Given the description of an element on the screen output the (x, y) to click on. 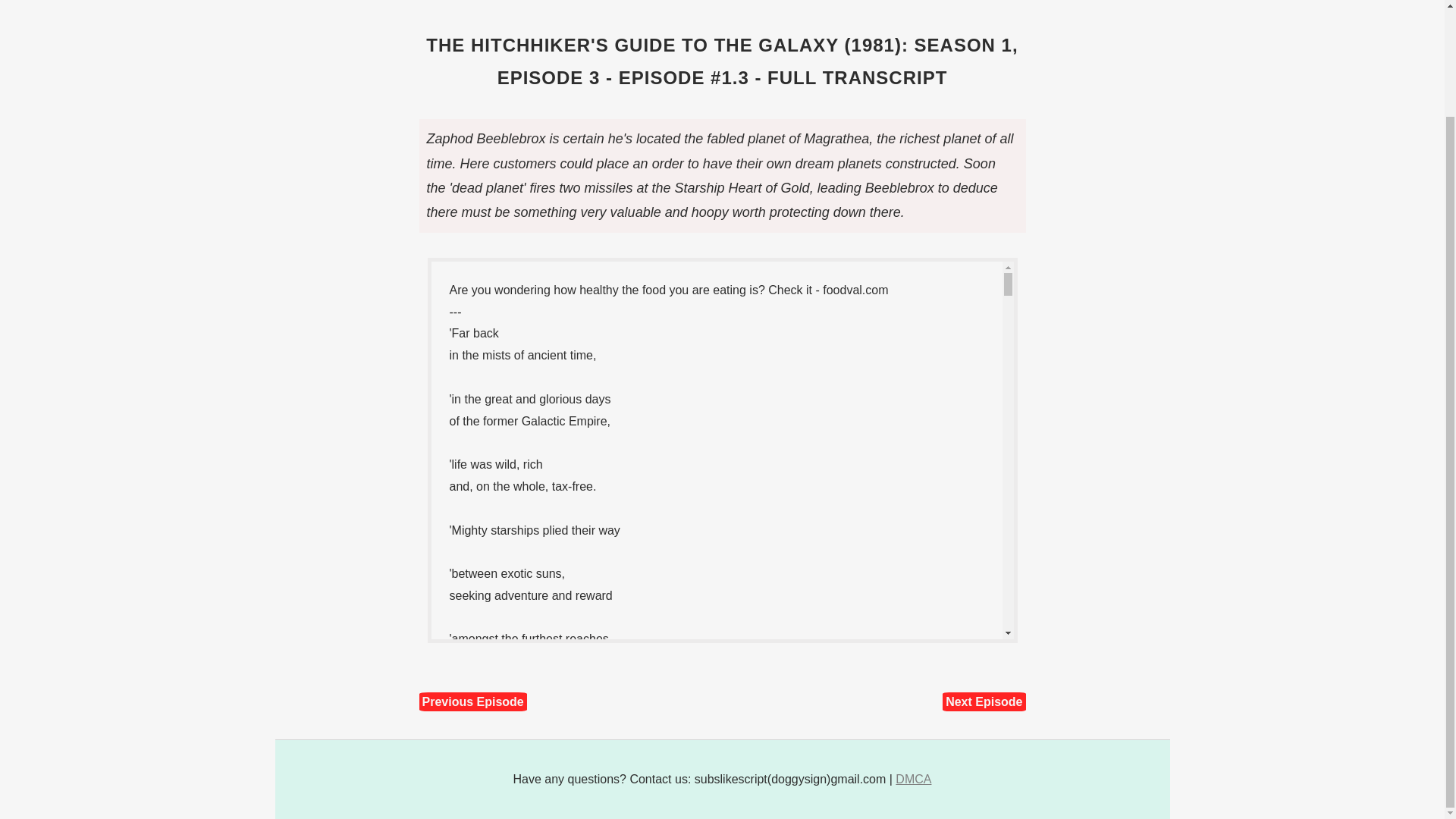
DMCA (913, 779)
Next Episode (983, 701)
Previous Episode (472, 701)
